Given the description of an element on the screen output the (x, y) to click on. 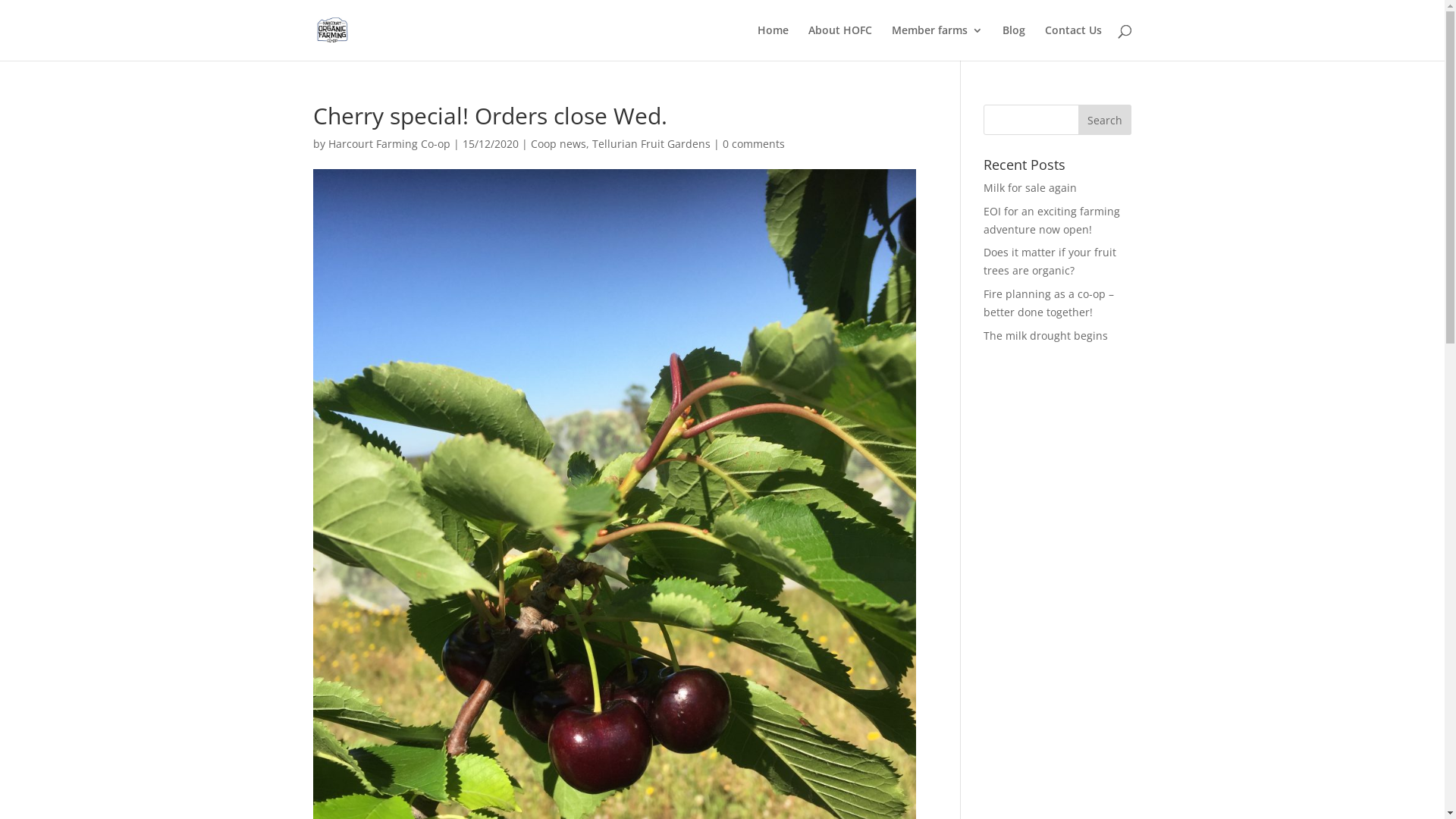
Harcourt Farming Co-op Element type: text (388, 143)
Blog Element type: text (1013, 42)
The milk drought begins Element type: text (1045, 335)
Tellurian Fruit Gardens Element type: text (650, 143)
Search Element type: text (1104, 119)
Coop news Element type: text (558, 143)
EOI for an exciting farming adventure now open! Element type: text (1051, 219)
Milk for sale again Element type: text (1029, 187)
About HOFC Element type: text (840, 42)
Contact Us Element type: text (1072, 42)
0 comments Element type: text (752, 143)
Member farms Element type: text (936, 42)
Does it matter if your fruit trees are organic? Element type: text (1049, 260)
Home Element type: text (771, 42)
